Given the description of an element on the screen output the (x, y) to click on. 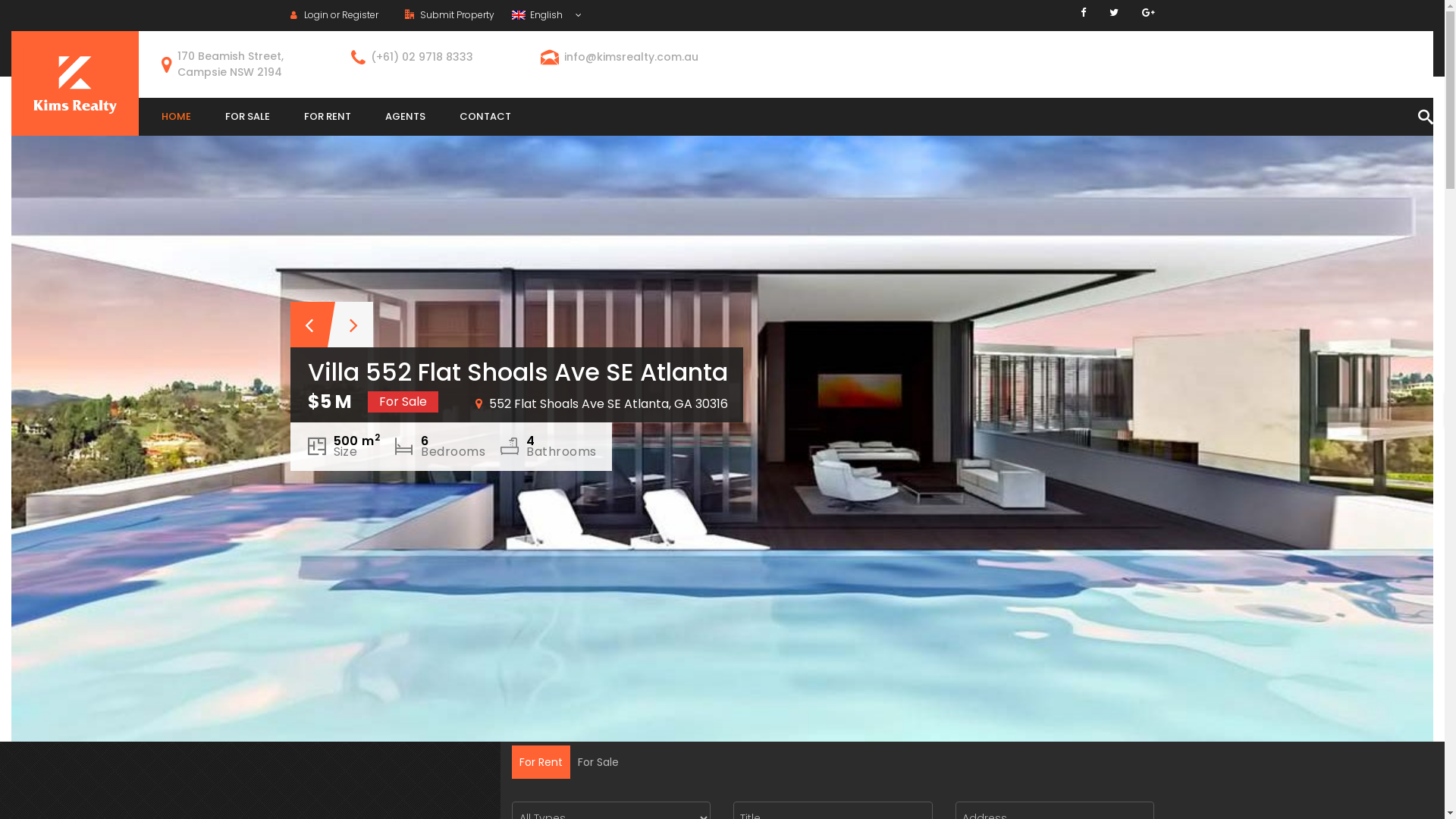
CONTACT Element type: text (485, 116)
AGENTS Element type: text (405, 116)
Login or Register Element type: text (339, 14)
For Rent Element type: text (540, 761)
  English Element type: text (545, 14)
FOR SALE Element type: text (247, 116)
Apartment 1580 Flat Shoals Rd SE Suite F Atlanta Element type: text (597, 371)
English Element type: hover (517, 14)
FOR RENT Element type: text (327, 116)
For Sale Element type: text (598, 761)
Facebook Element type: hover (1082, 12)
Twitter Element type: hover (1112, 12)
Villa 552 Flat Shoals Ave SE Atlanta Element type: hover (722, 386)
HOME Element type: text (176, 116)
1580 Flat Shoals Rd SE Suite F Atlanta, GA 30316 Element type: text (749, 403)
Submit Property Element type: text (449, 14)
Google+ Element type: hover (1148, 12)
